Given the description of an element on the screen output the (x, y) to click on. 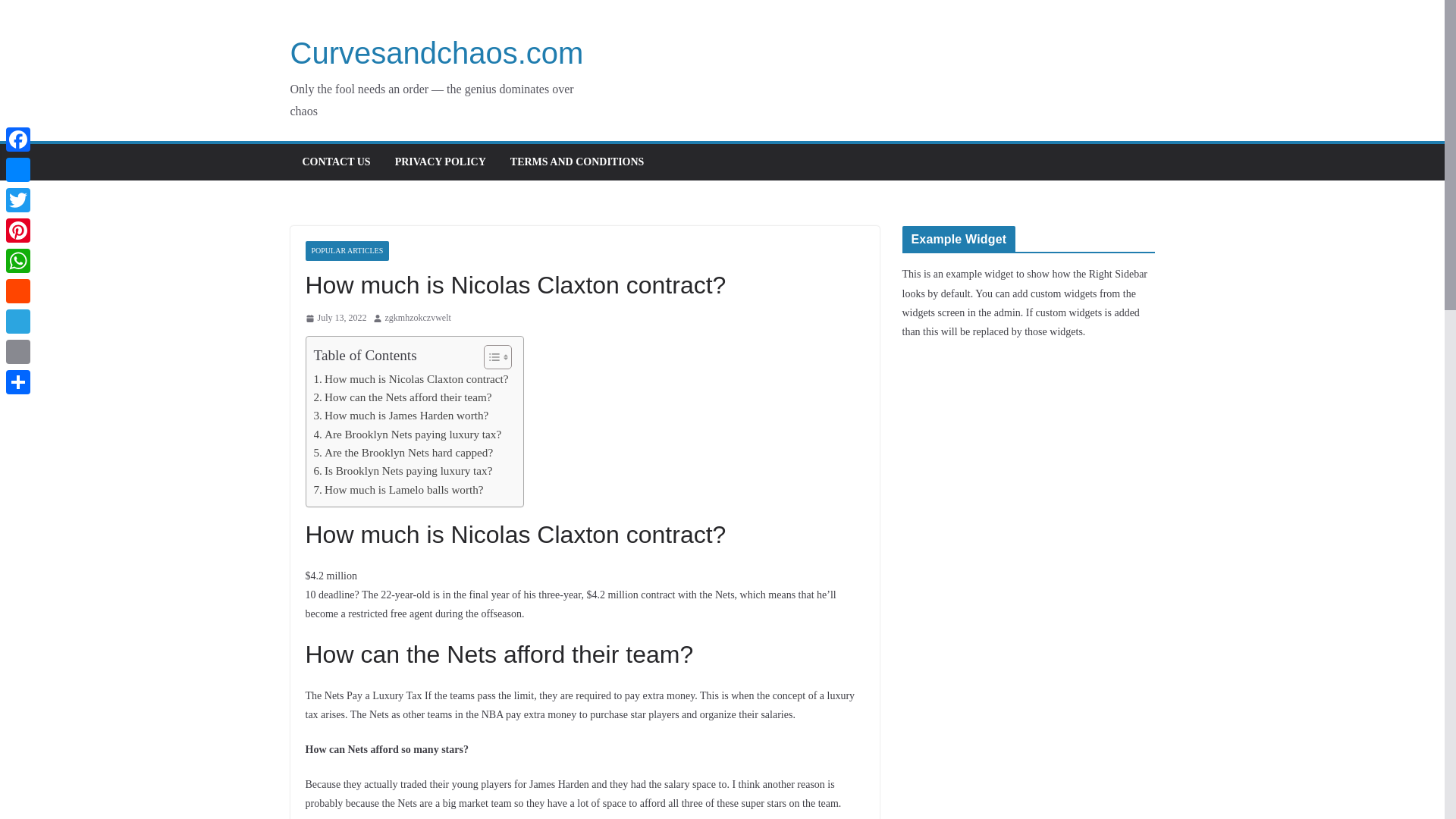
Facebook (17, 139)
How much is Nicolas Claxton contract? (411, 379)
Are the Brooklyn Nets hard capped? (403, 452)
Are Brooklyn Nets paying luxury tax? (408, 434)
POPULAR ARTICLES (346, 250)
How can the Nets afford their team? (403, 397)
Curvesandchaos.com (436, 52)
How much is Lamelo balls worth? (398, 489)
Is Brooklyn Nets paying luxury tax? (403, 470)
zgkmhzokczvwelt (418, 318)
